Given the description of an element on the screen output the (x, y) to click on. 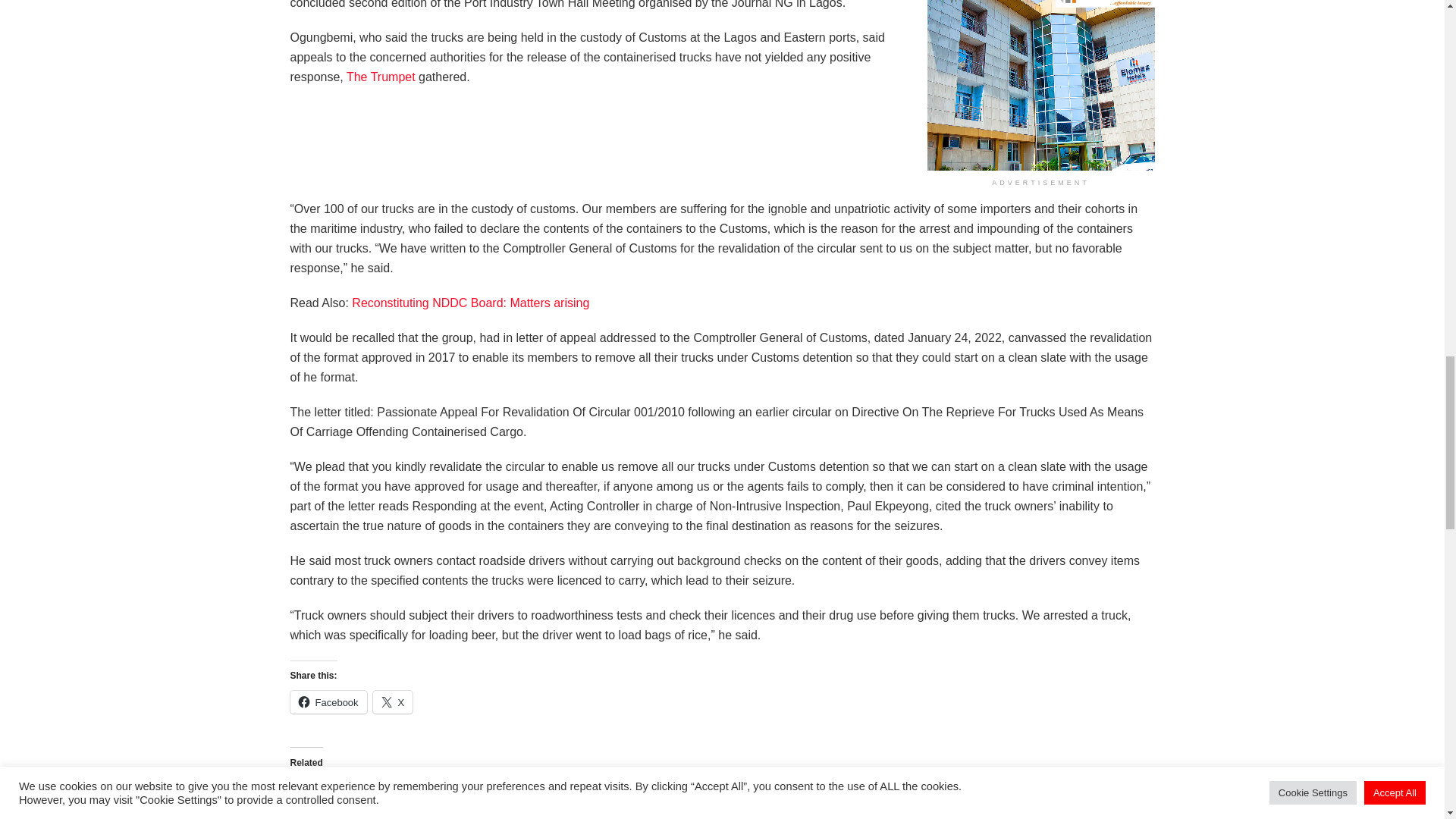
Click to share on Facebook (327, 702)
Click to share on X (392, 702)
